Given the description of an element on the screen output the (x, y) to click on. 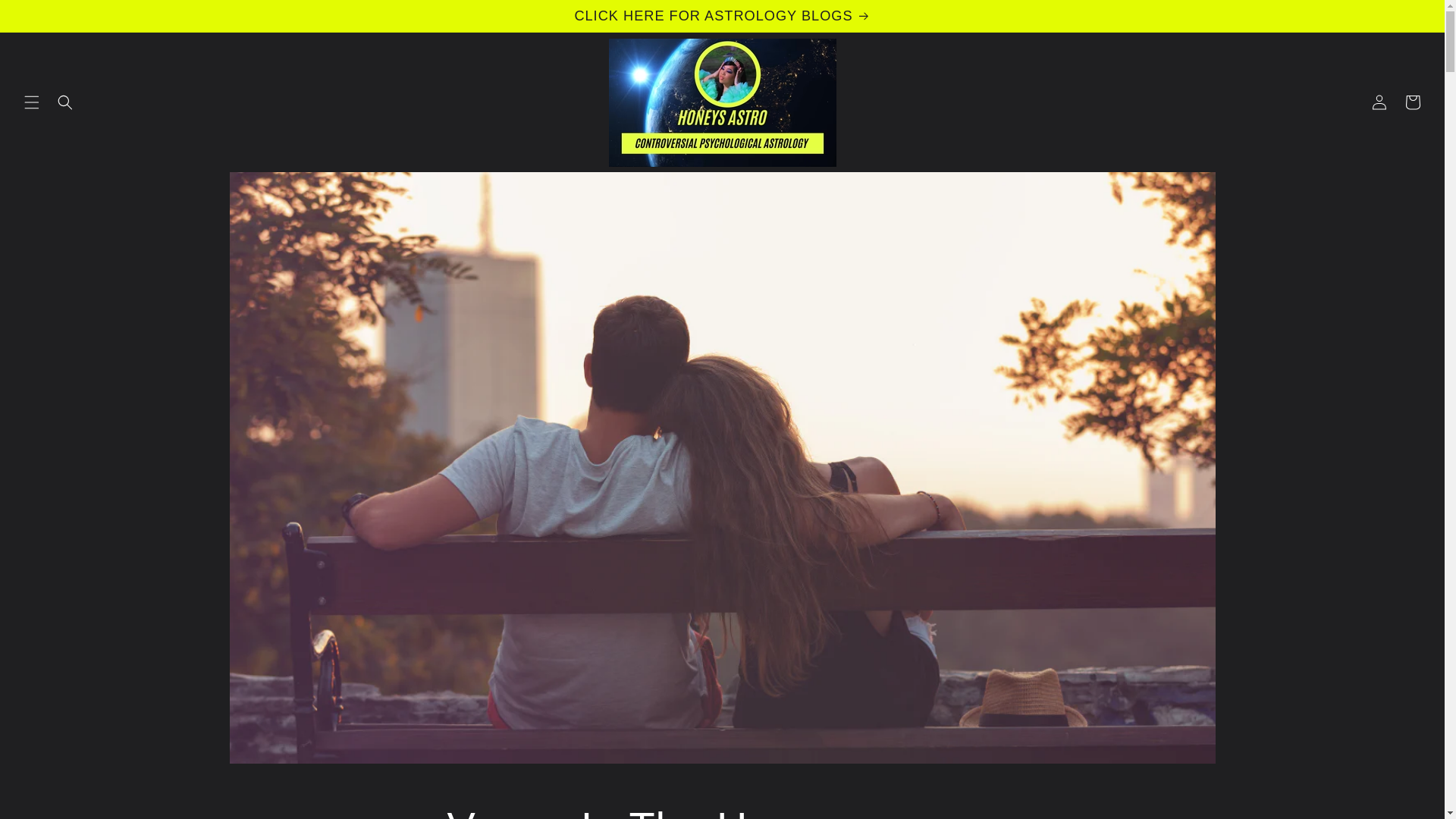
Skip to content (45, 17)
Log in (1379, 101)
Cart (1412, 101)
